Given the description of an element on the screen output the (x, y) to click on. 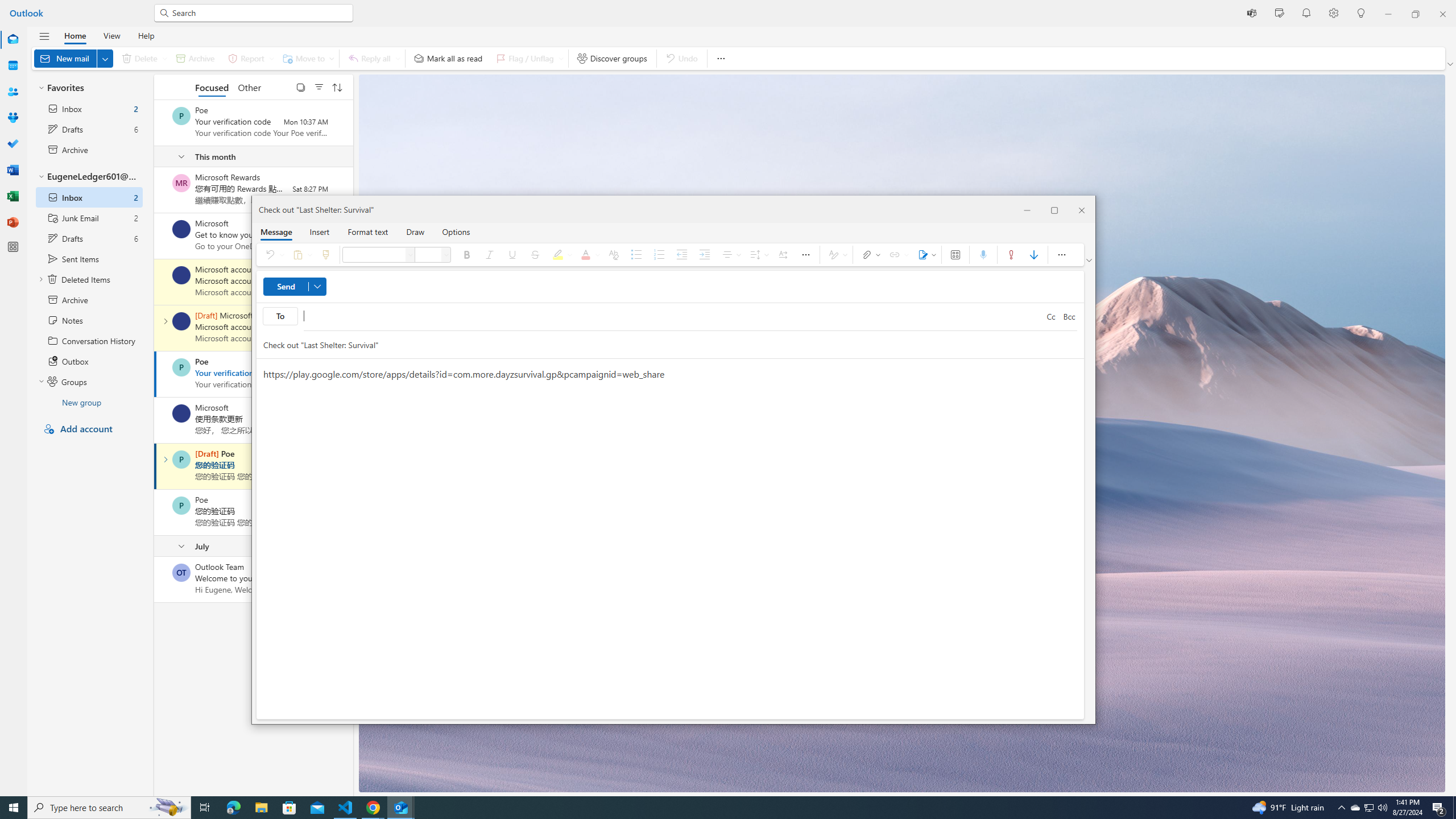
Reply all (372, 58)
Signature (925, 254)
Decrease indent (682, 254)
Font (410, 254)
Expand conversation (164, 459)
Font size (446, 254)
Add a subject (659, 344)
To Do (12, 143)
Undo (272, 254)
Insert (319, 231)
Strikethrough (535, 254)
